Given the description of an element on the screen output the (x, y) to click on. 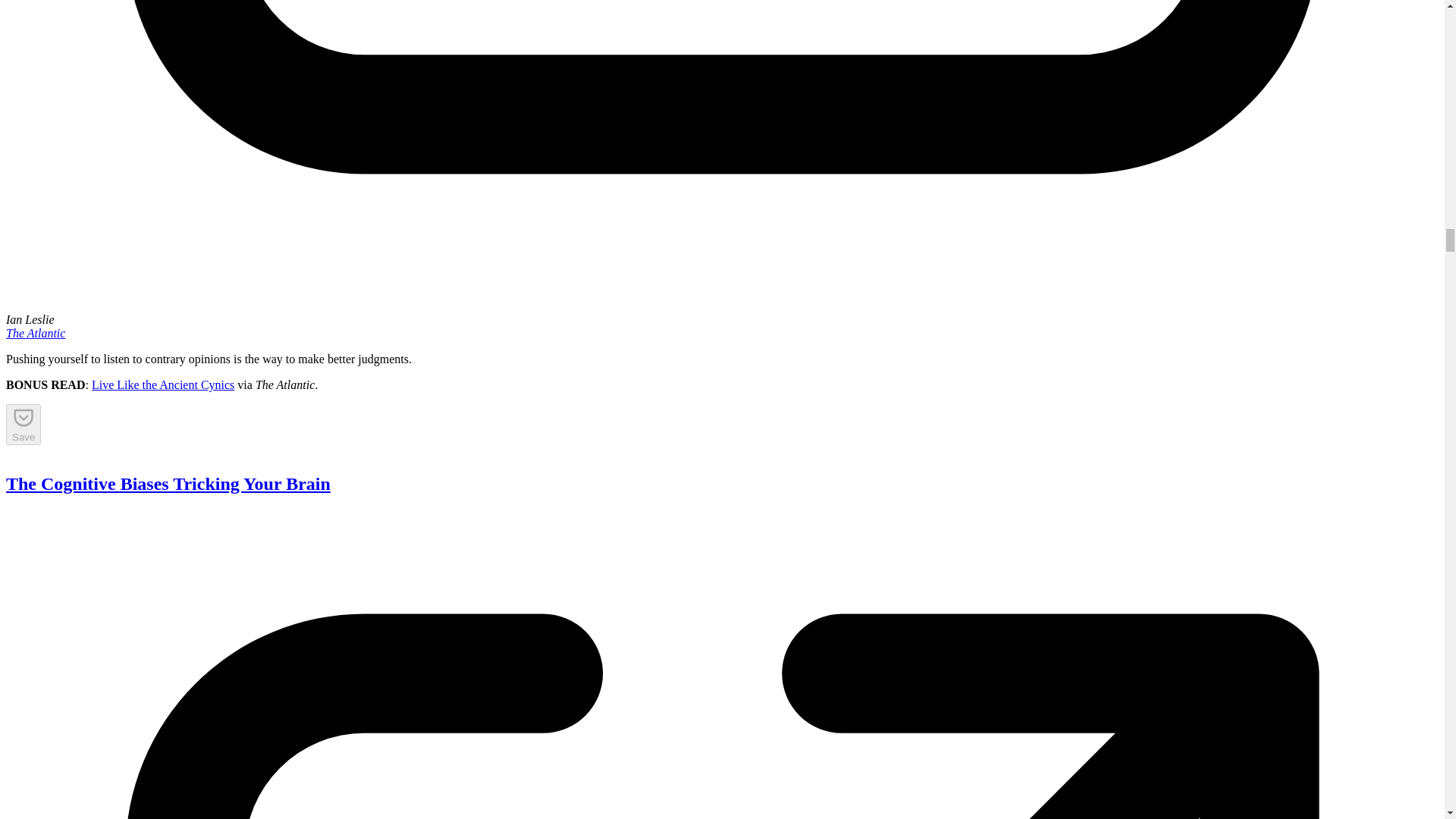
The Atlantic (35, 332)
Save (22, 424)
The Cognitive Biases Tricking Your Brain (167, 483)
Live Like the Ancient Cynics (162, 384)
